Given the description of an element on the screen output the (x, y) to click on. 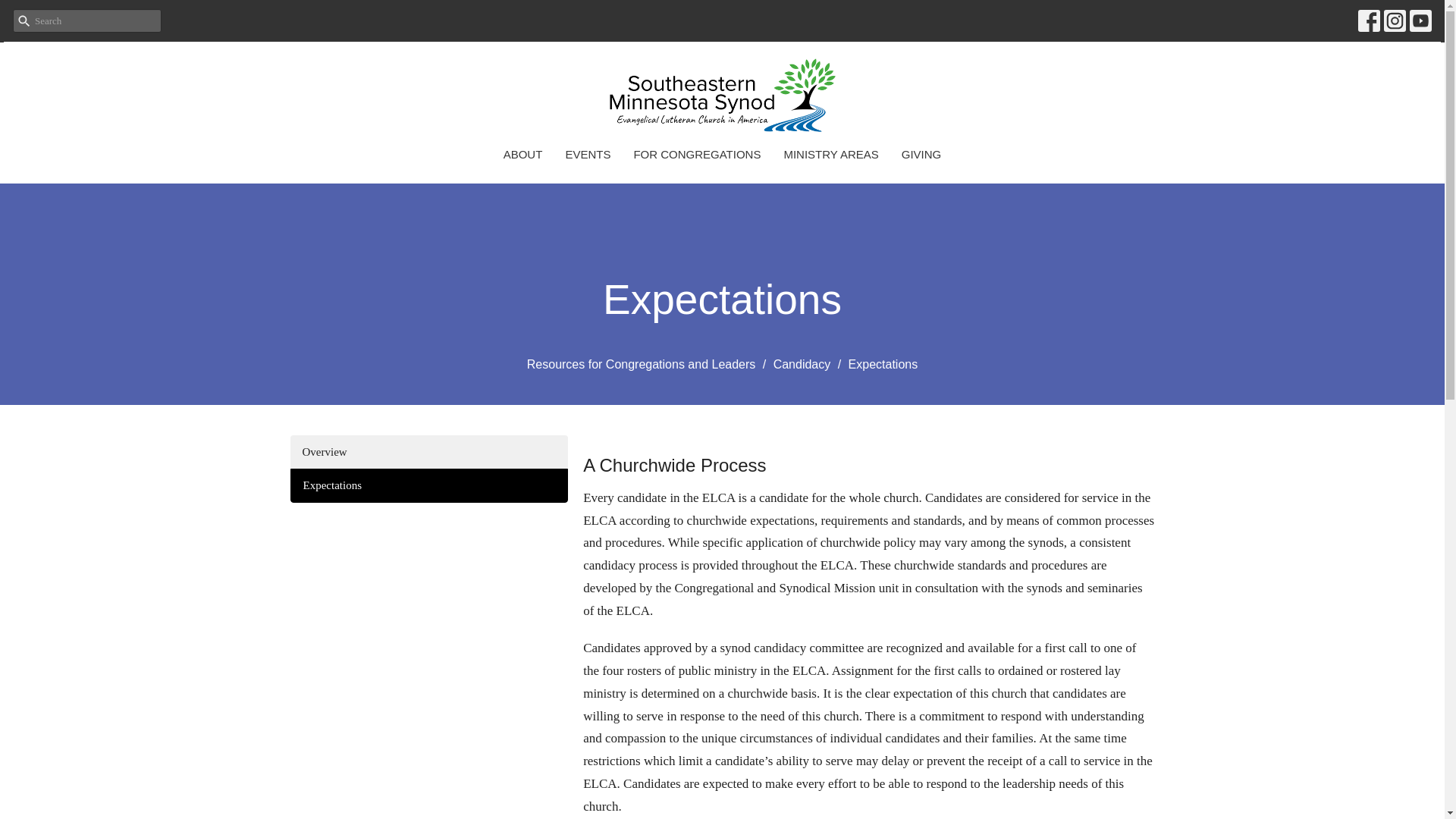
MINISTRY AREAS (830, 154)
Expectations (428, 485)
FOR CONGREGATIONS (696, 154)
GIVING (921, 154)
Resources for Congregations and Leaders (641, 364)
ABOUT (523, 154)
Candidacy (802, 364)
Overview (428, 451)
EVENTS (587, 154)
